Given the description of an element on the screen output the (x, y) to click on. 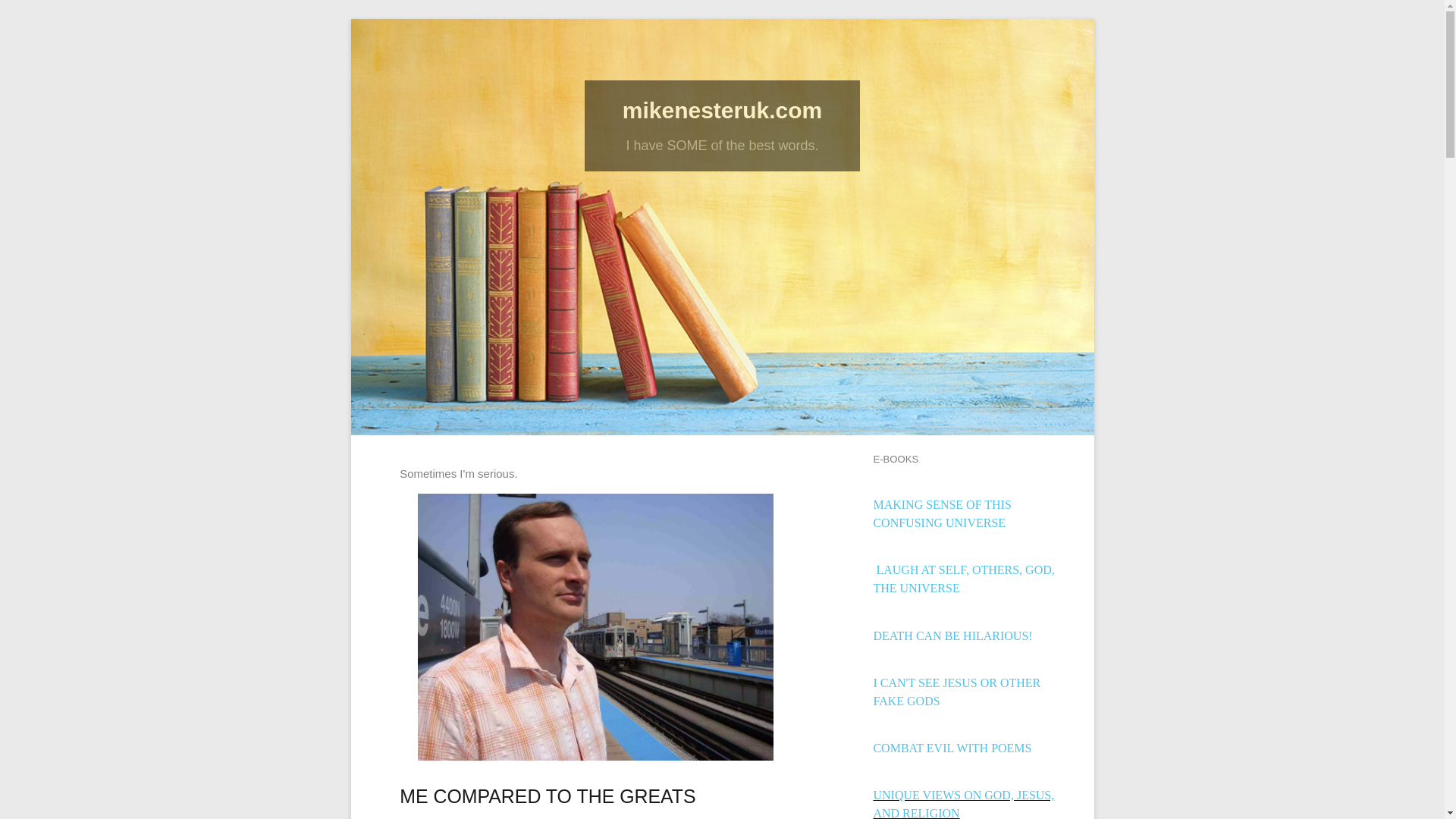
LAUGH AT SELF, OTHERS, GOD, THE UNIVERSE (963, 578)
DEATH CAN BE HILARIOUS! (952, 635)
COMBAT EVIL WITH POEMS (951, 748)
UNIQUE VIEWS ON GOD, JESUS, AND RELIGION (963, 803)
mikenesteruk.com (722, 109)
I CAN'T SEE JESUS OR OTHER FAKE GODS (956, 691)
MAKING SENSE OF THIS CONFUSING UNIVERSE (941, 513)
